Given the description of an element on the screen output the (x, y) to click on. 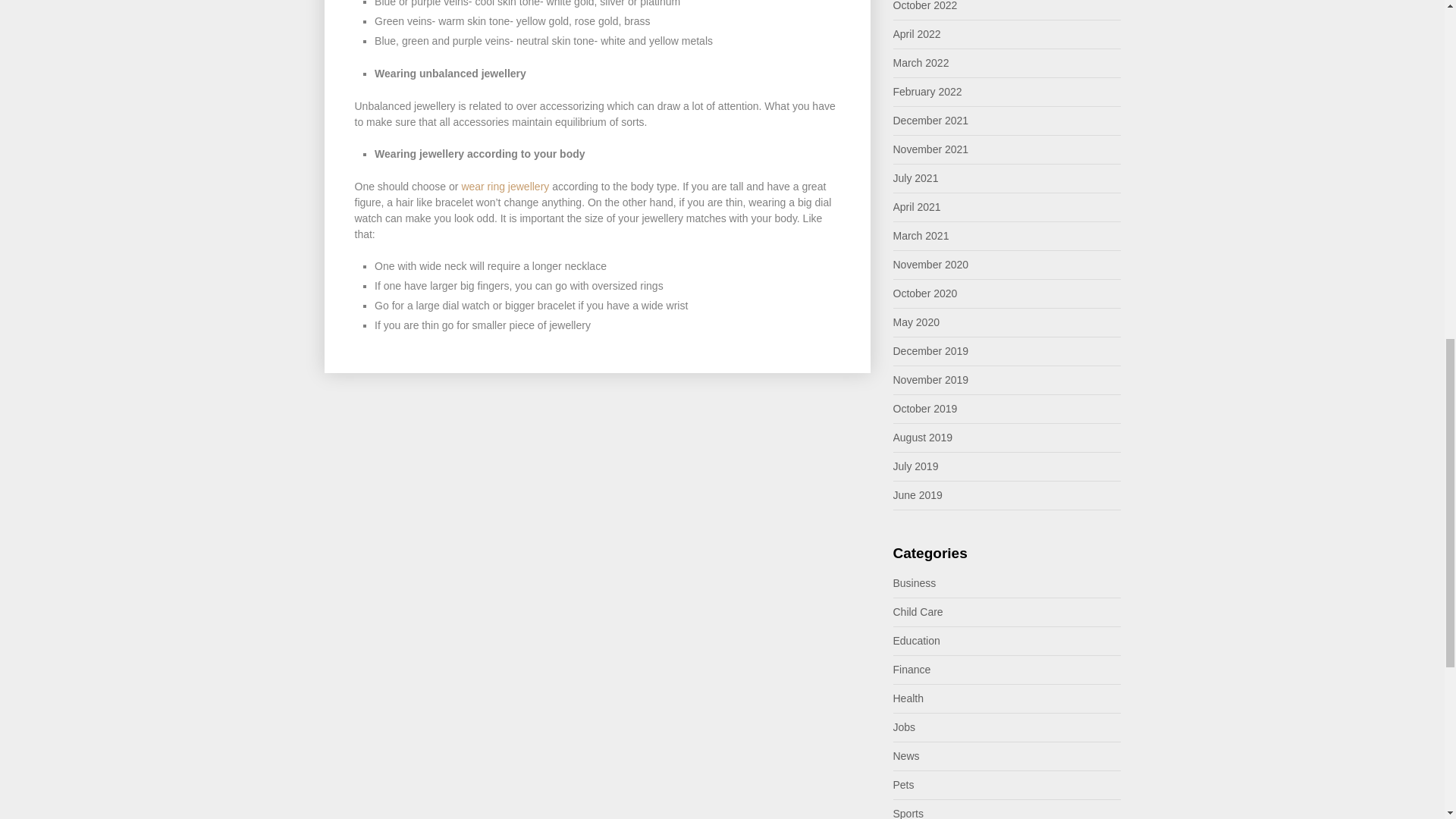
February 2022 (927, 91)
October 2022 (925, 5)
November 2021 (931, 149)
March 2022 (921, 62)
November 2020 (931, 264)
December 2021 (931, 120)
April 2021 (916, 206)
wear ring jewellery (506, 186)
March 2021 (921, 235)
April 2022 (916, 33)
July 2021 (916, 177)
